Given the description of an element on the screen output the (x, y) to click on. 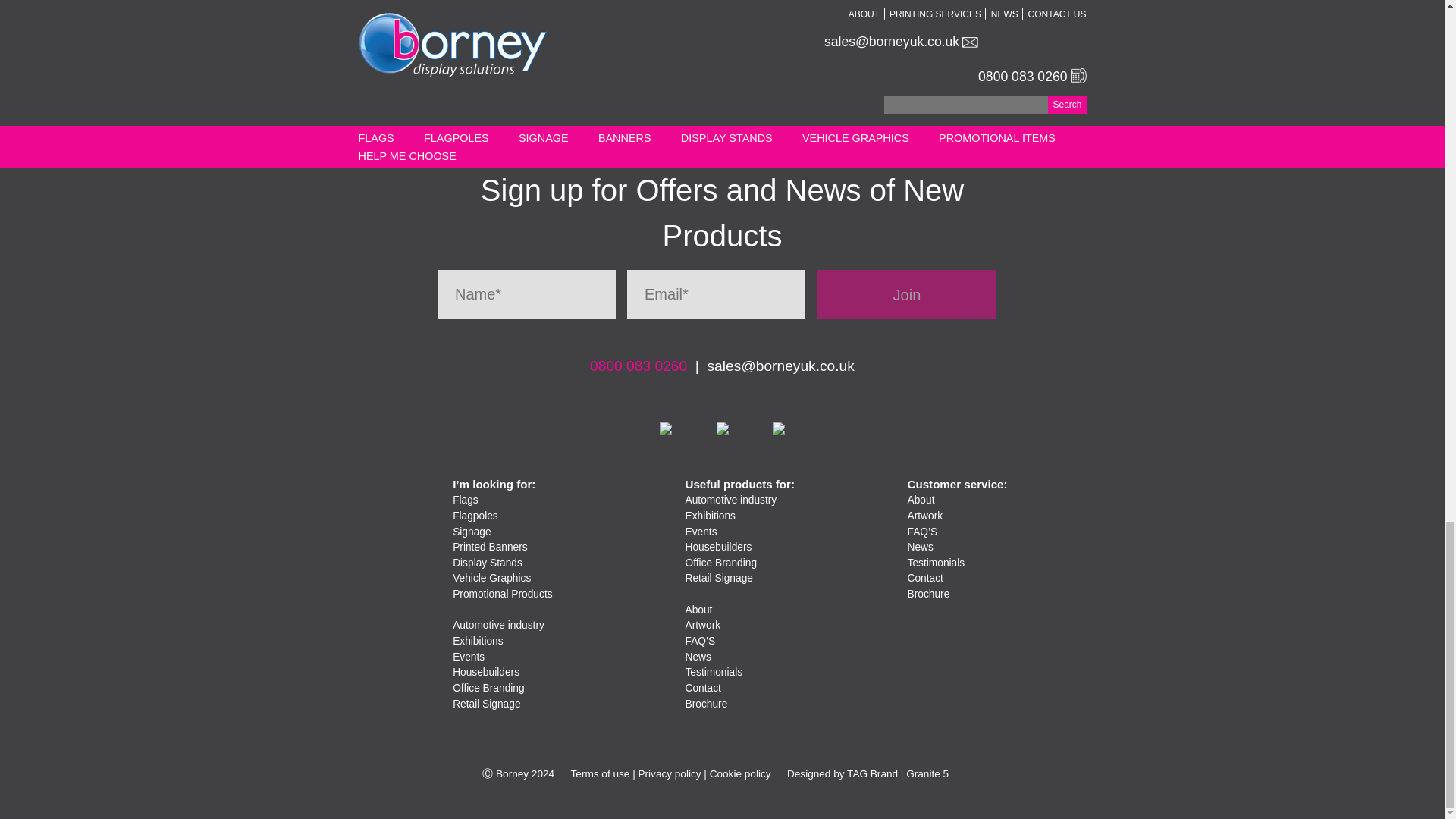
Join (905, 294)
